Given the description of an element on the screen output the (x, y) to click on. 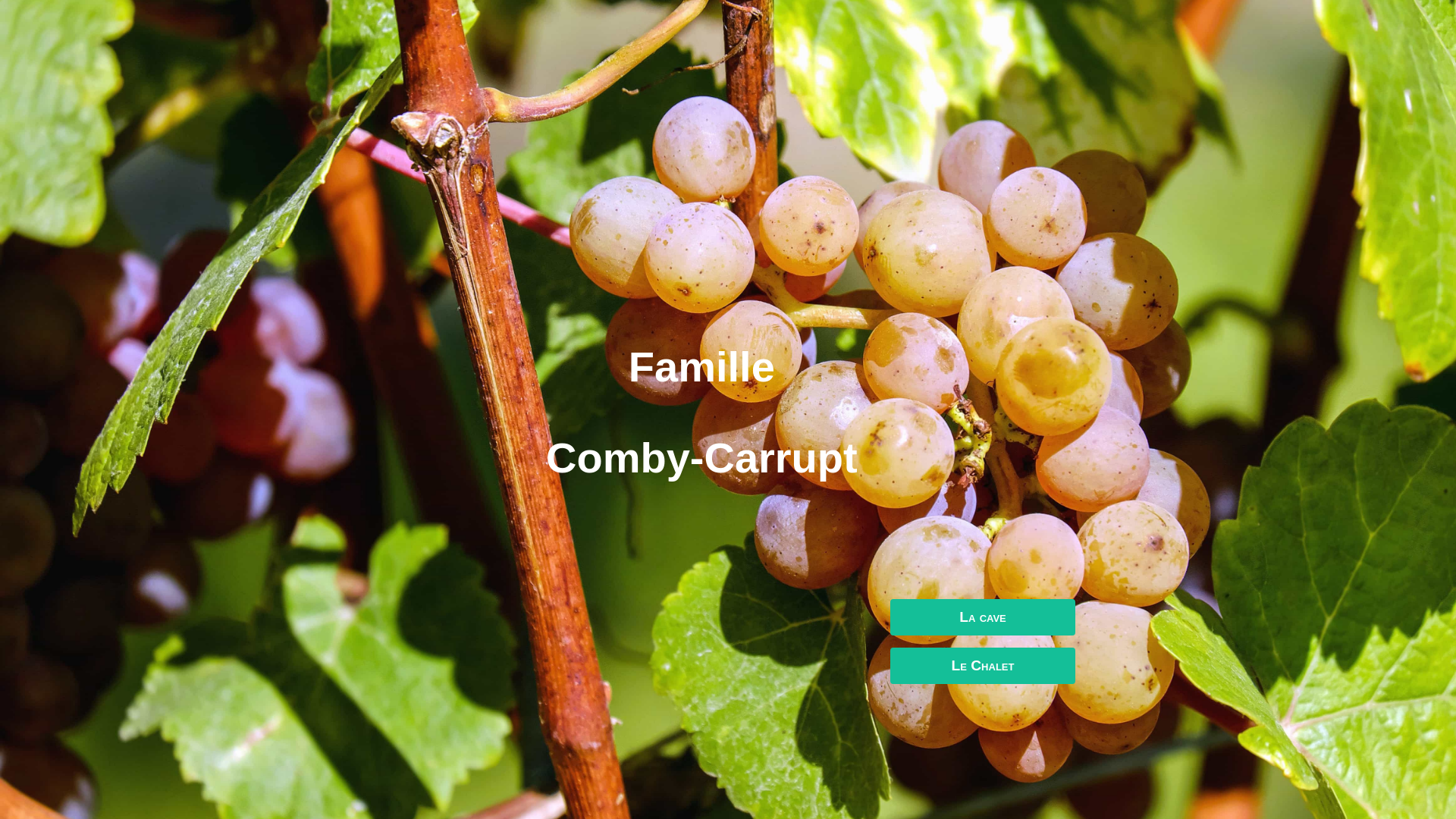
La cave Element type: text (983, 617)
Le Chalet Element type: text (983, 665)
